Given the description of an element on the screen output the (x, y) to click on. 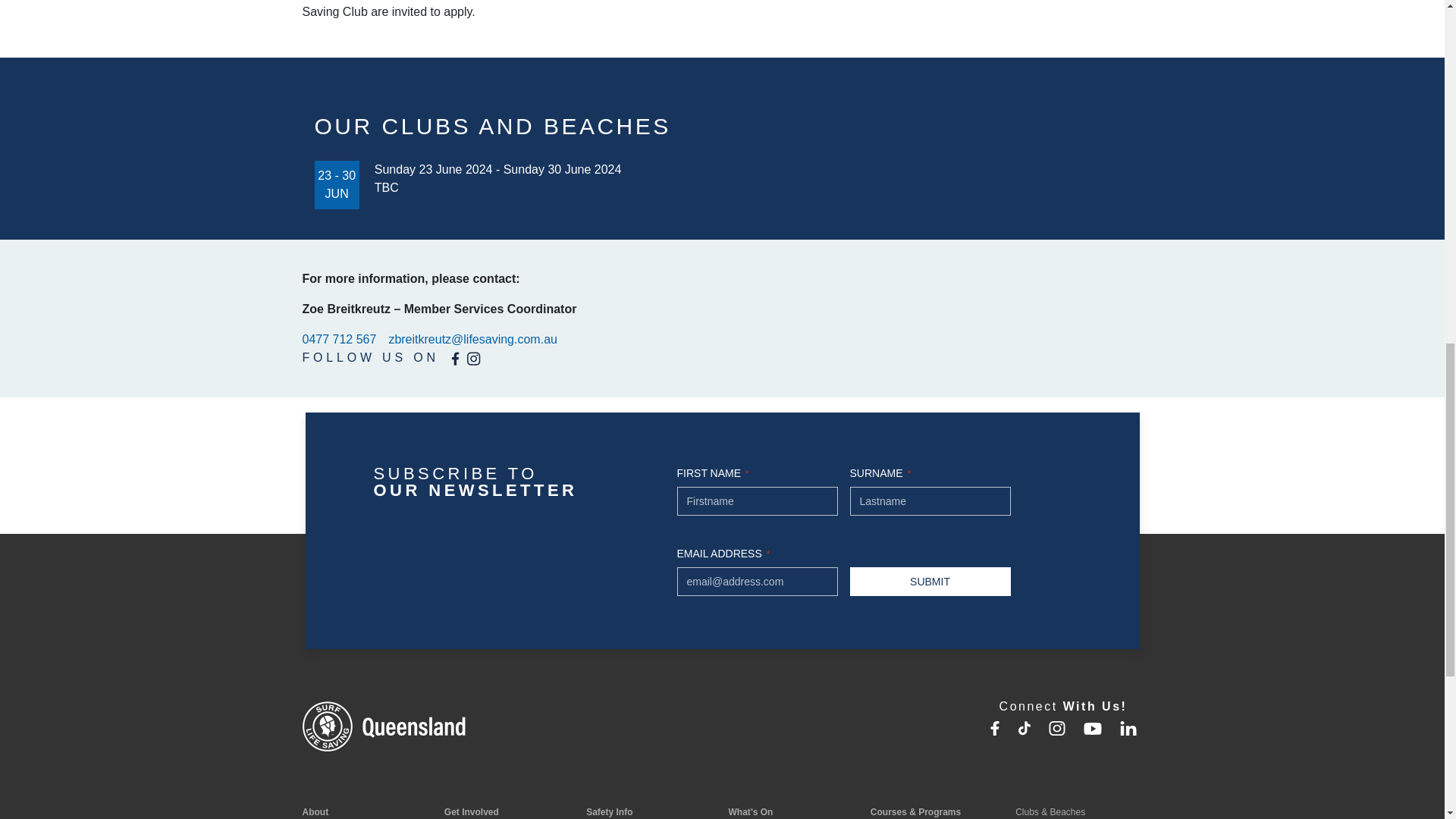
Submit (929, 581)
